Given the description of an element on the screen output the (x, y) to click on. 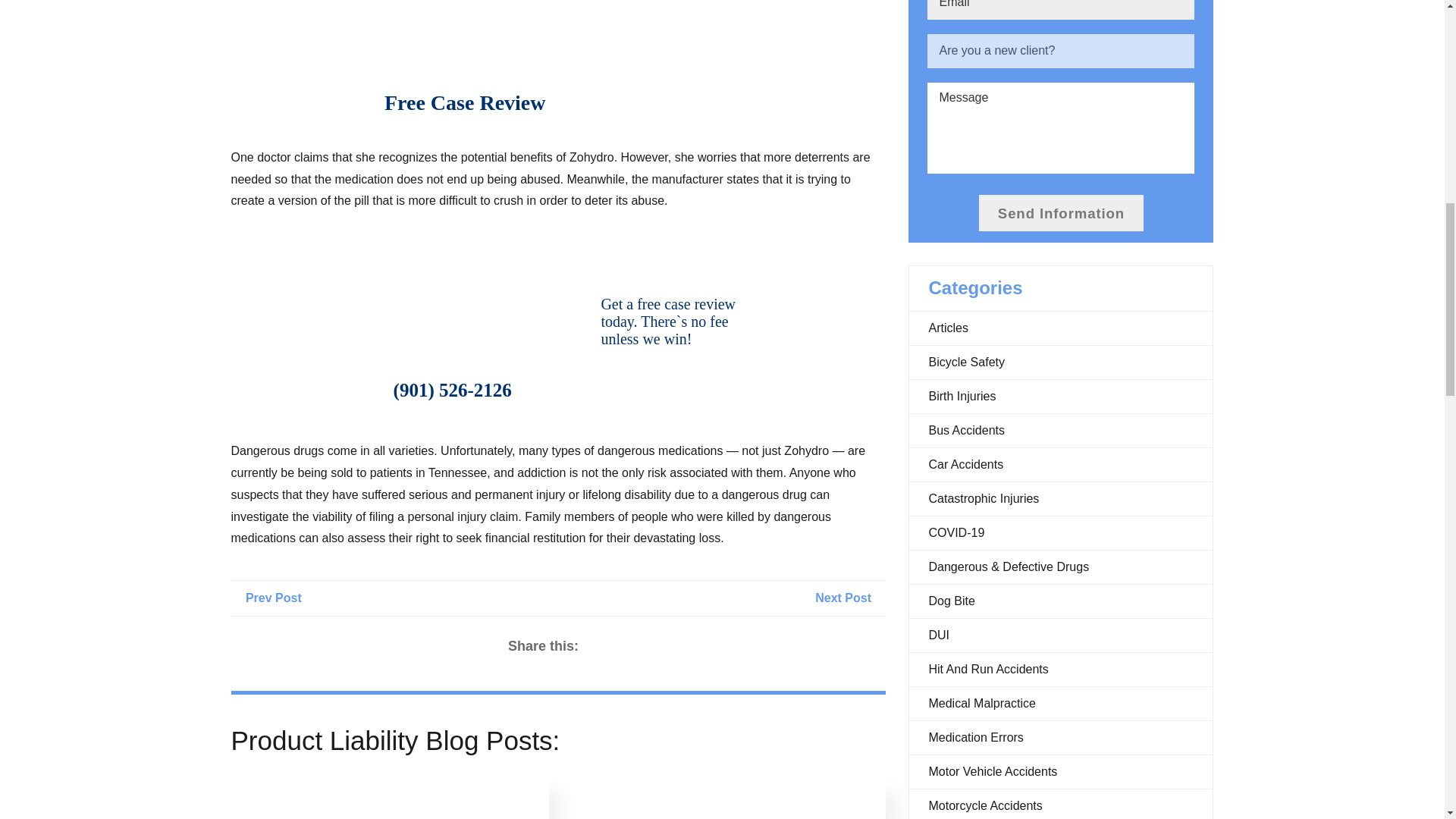
Send Information (1060, 212)
FREE CASE REVIEW! (452, 389)
Contact Us (663, 389)
Free Case Review  (565, 102)
2 Killed in Tennessee 18-Wheeler Accident (850, 598)
